Given the description of an element on the screen output the (x, y) to click on. 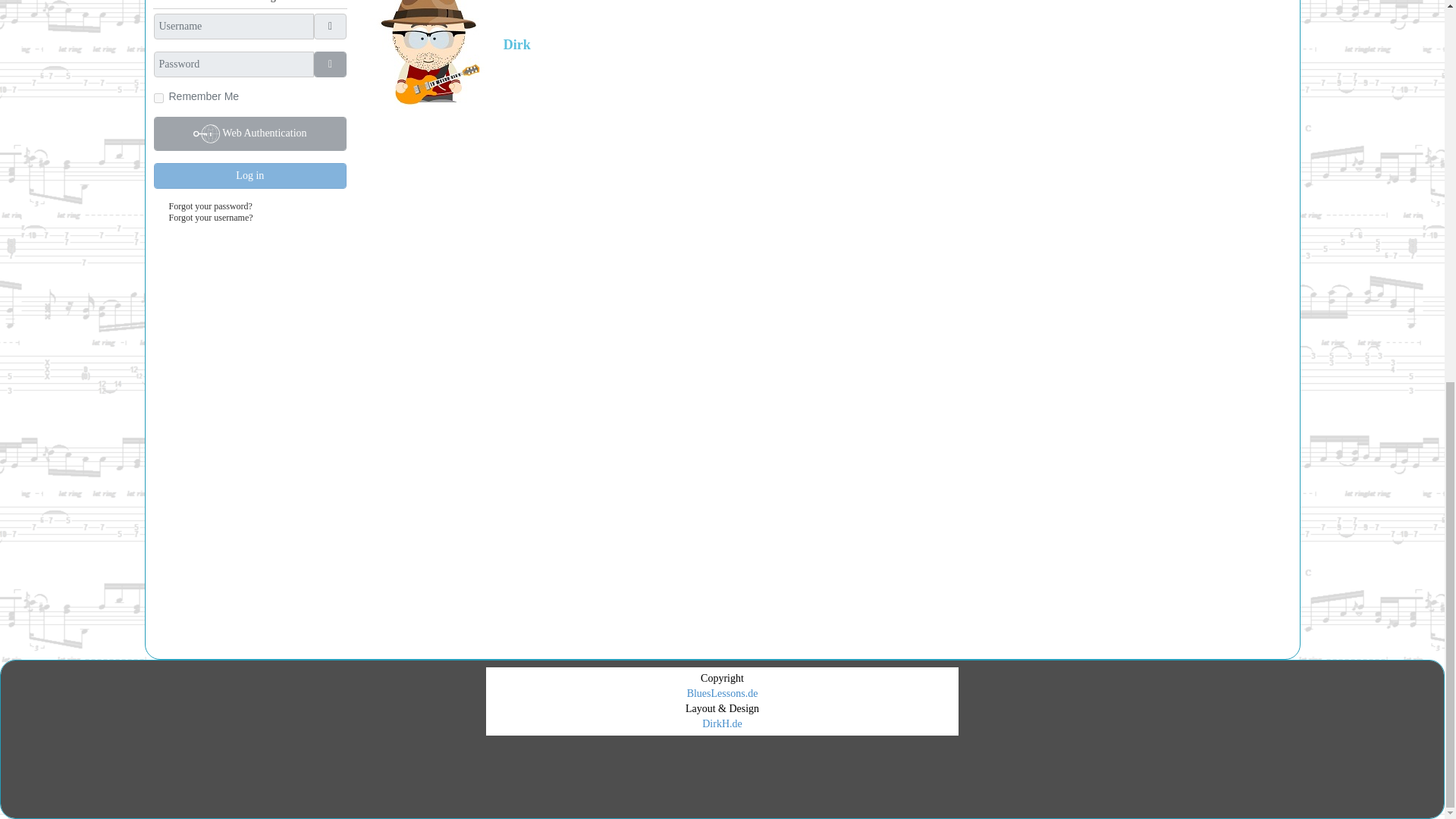
Log in (249, 175)
yes (157, 98)
Web Authentication (249, 133)
Forgot your username? (209, 217)
BluesLessons.de (722, 693)
Username (330, 26)
Forgot your password? (209, 205)
Web Authentication (249, 133)
Show Password (330, 63)
DirkH.de (721, 723)
